Given the description of an element on the screen output the (x, y) to click on. 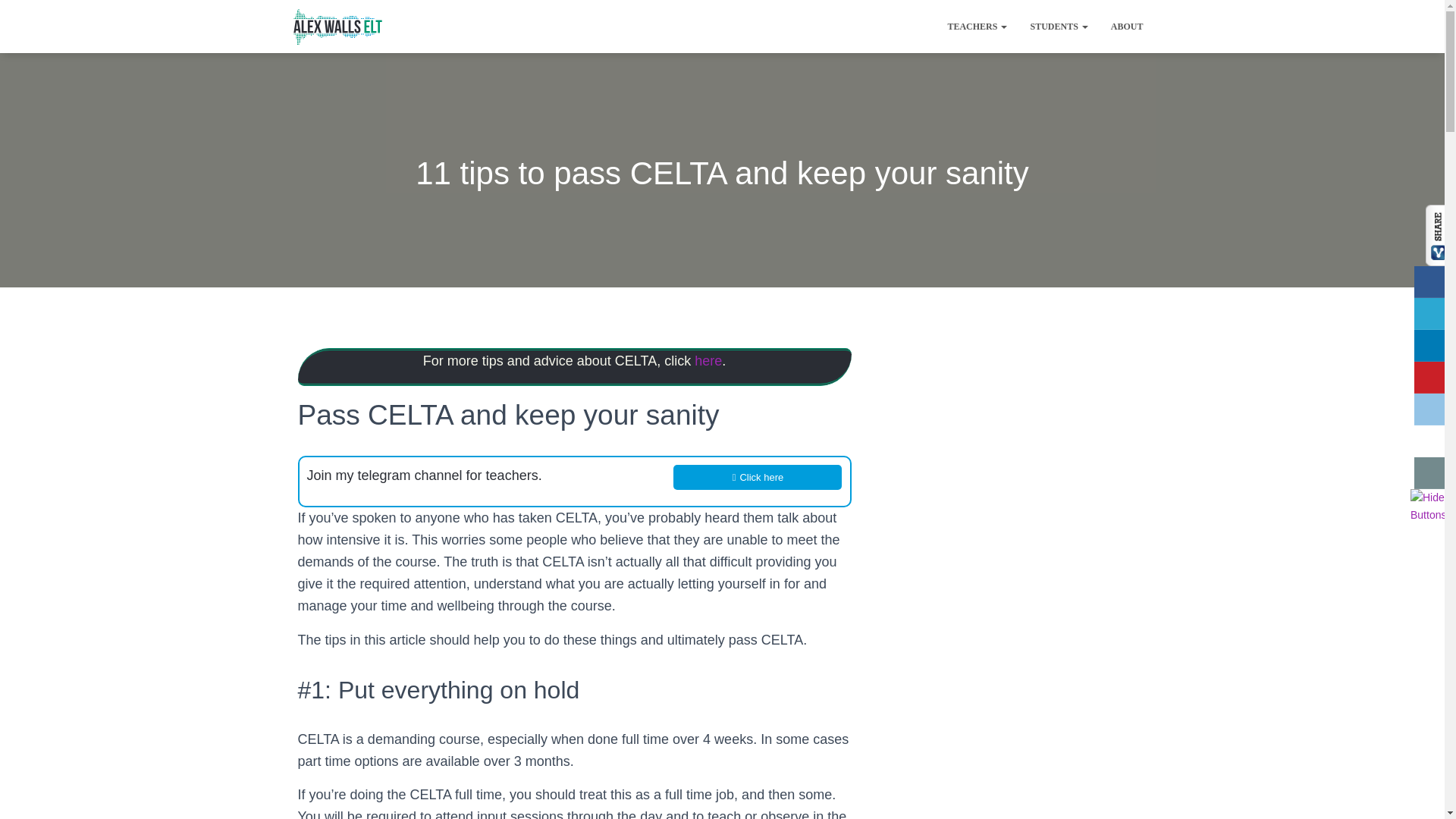
Click here (756, 477)
Alex Walls ELT (337, 26)
STUDENTS (1058, 26)
Students (1058, 26)
Teachers (976, 26)
ABOUT (1126, 26)
TEACHERS (976, 26)
here (708, 360)
